Given the description of an element on the screen output the (x, y) to click on. 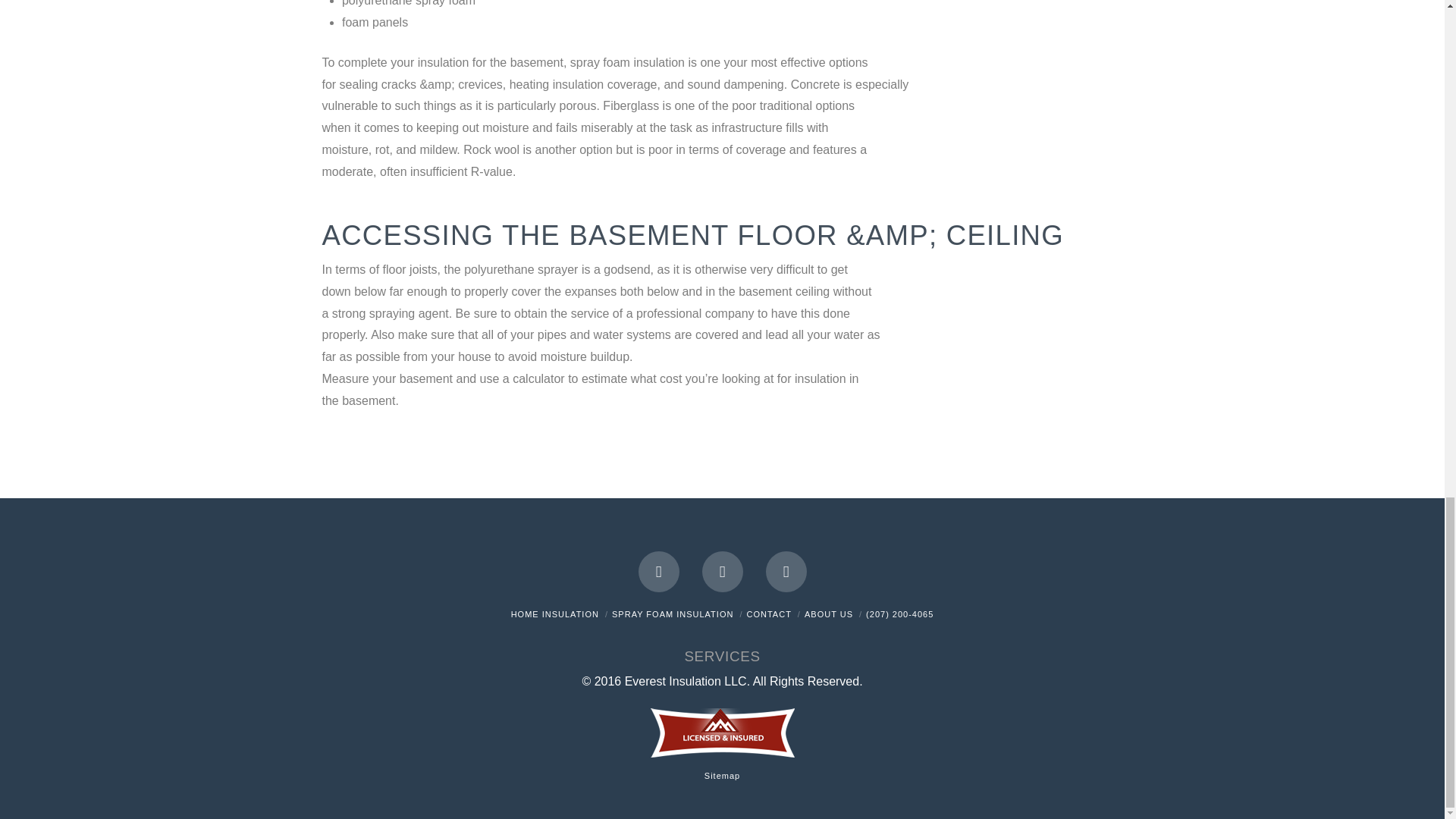
YouTube (721, 571)
Instagram (785, 571)
Facebook (659, 571)
